Given the description of an element on the screen output the (x, y) to click on. 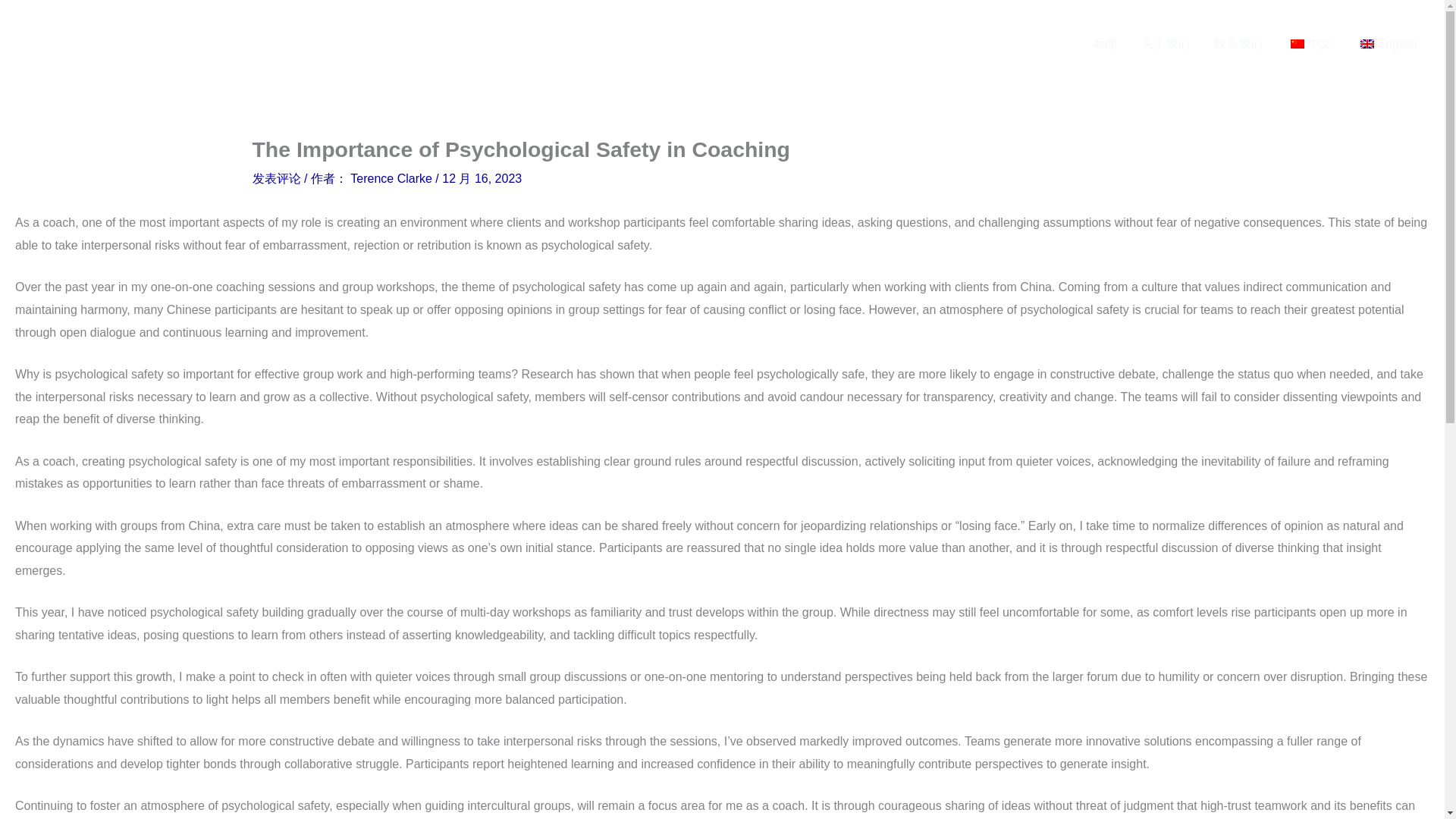
Terence Clarke (392, 178)
English (1366, 43)
English (1386, 43)
